Given the description of an element on the screen output the (x, y) to click on. 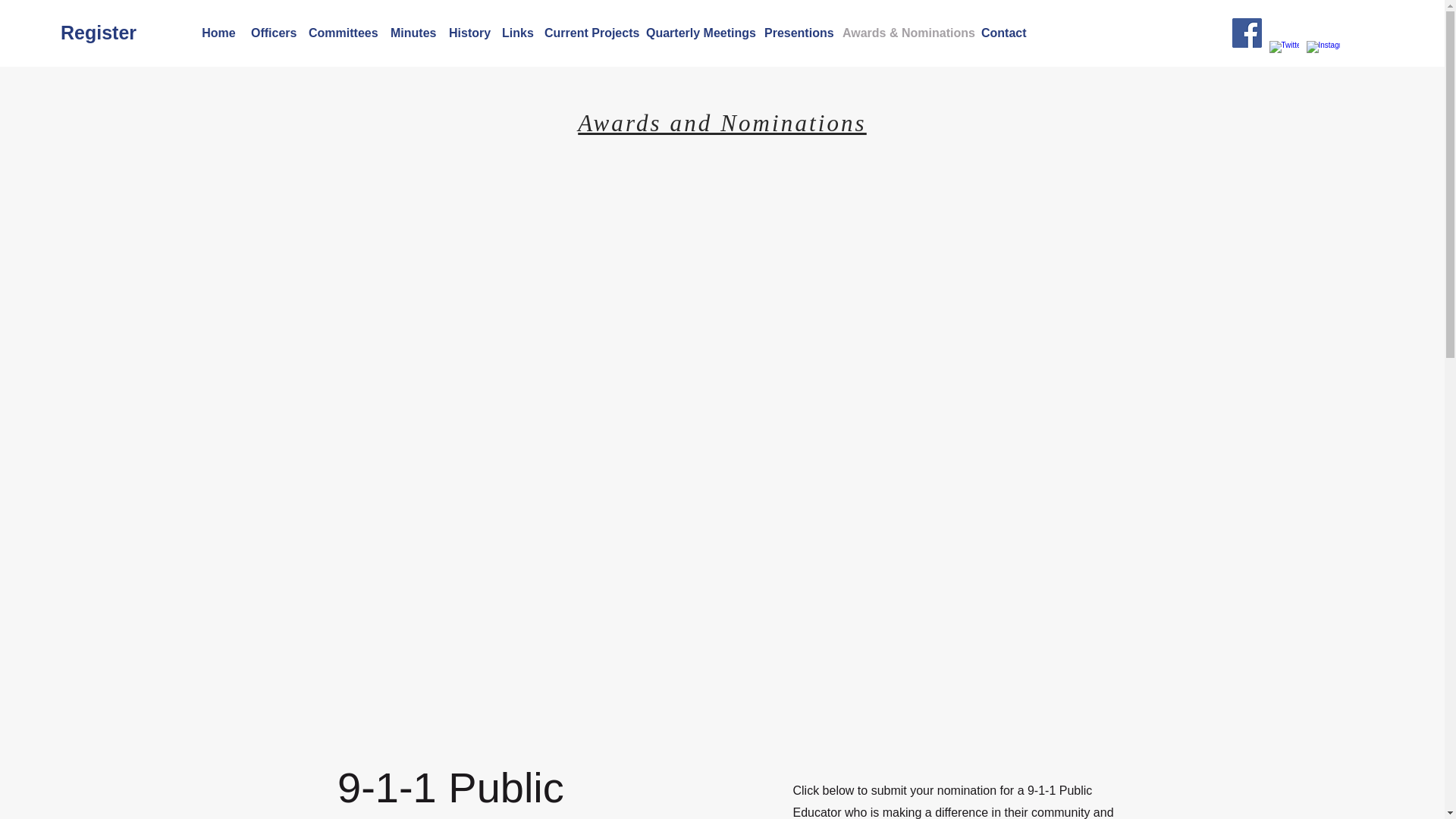
Home (218, 33)
Presentions (795, 33)
Minutes (411, 33)
Quarterly Meetings (698, 33)
Register (129, 32)
Officers (272, 33)
Committees (341, 33)
Contact (1002, 33)
History (468, 33)
Current Projects (588, 33)
